Given the description of an element on the screen output the (x, y) to click on. 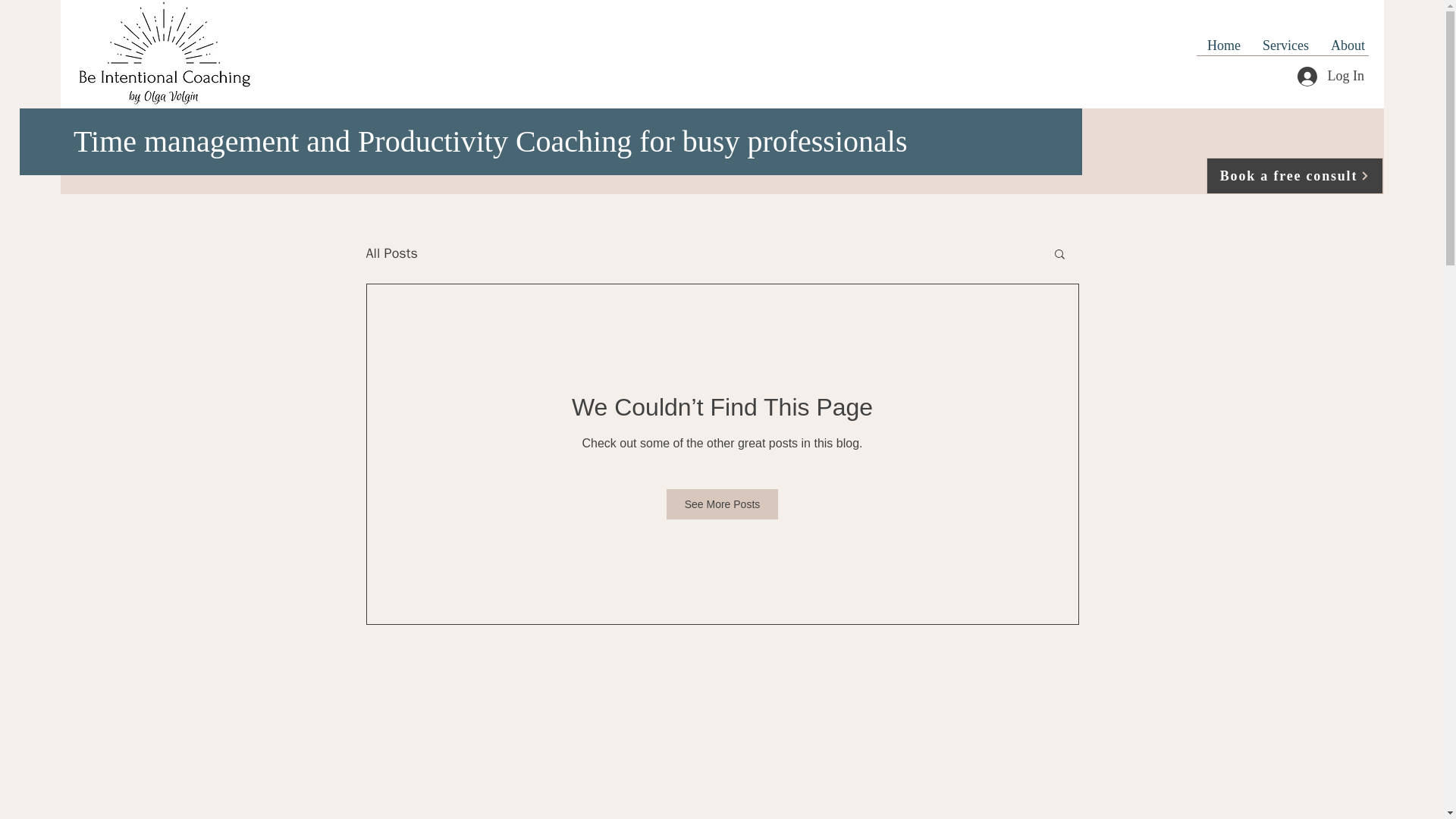
About (1346, 45)
All Posts (390, 253)
See More Posts (722, 503)
Home (1222, 45)
Services (1284, 45)
Log In (1329, 76)
Book a free consult (1295, 176)
